Given the description of an element on the screen output the (x, y) to click on. 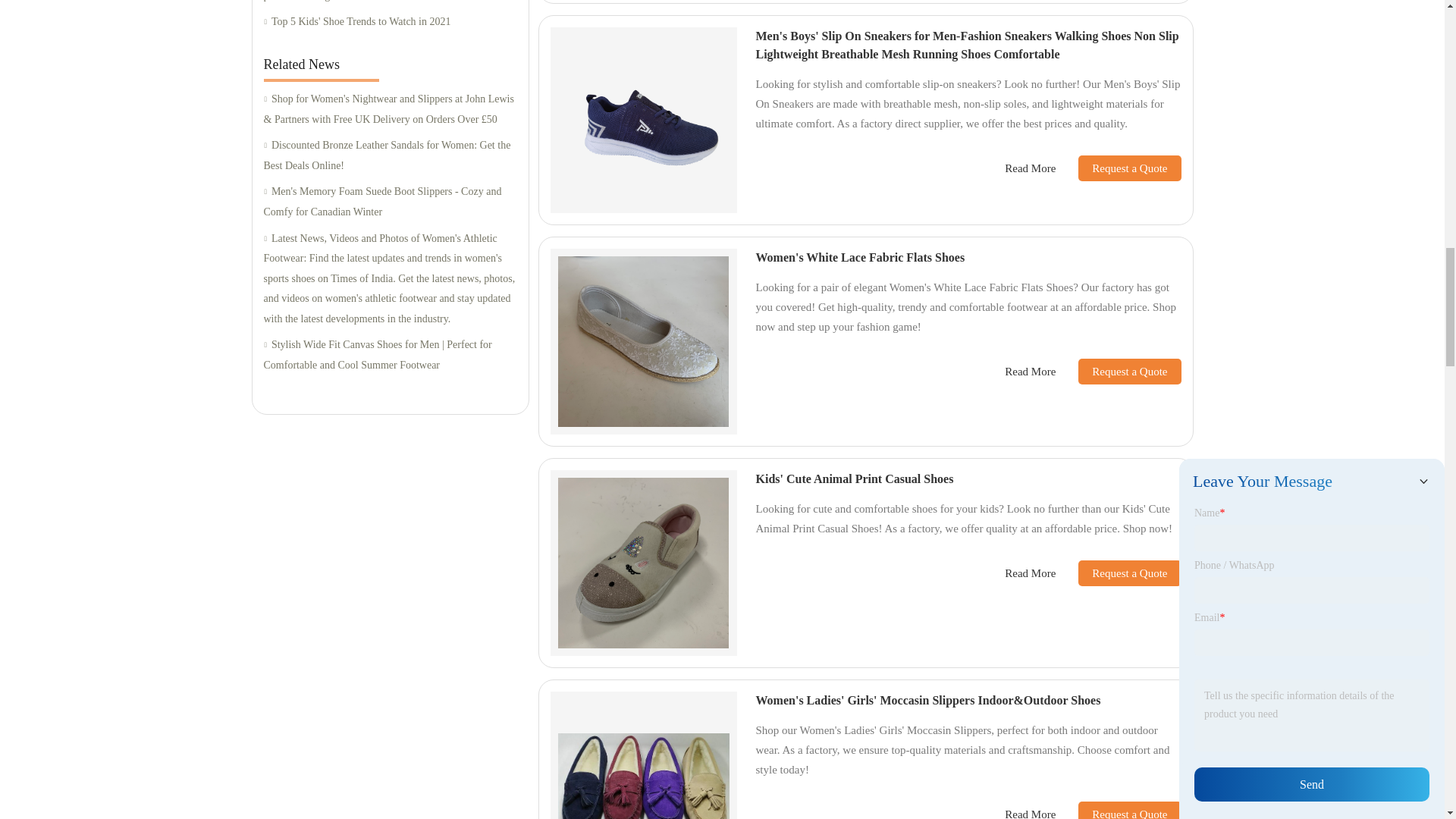
Top 5 Kids' Shoe Trends to Watch in 2021 (389, 22)
